Given the description of an element on the screen output the (x, y) to click on. 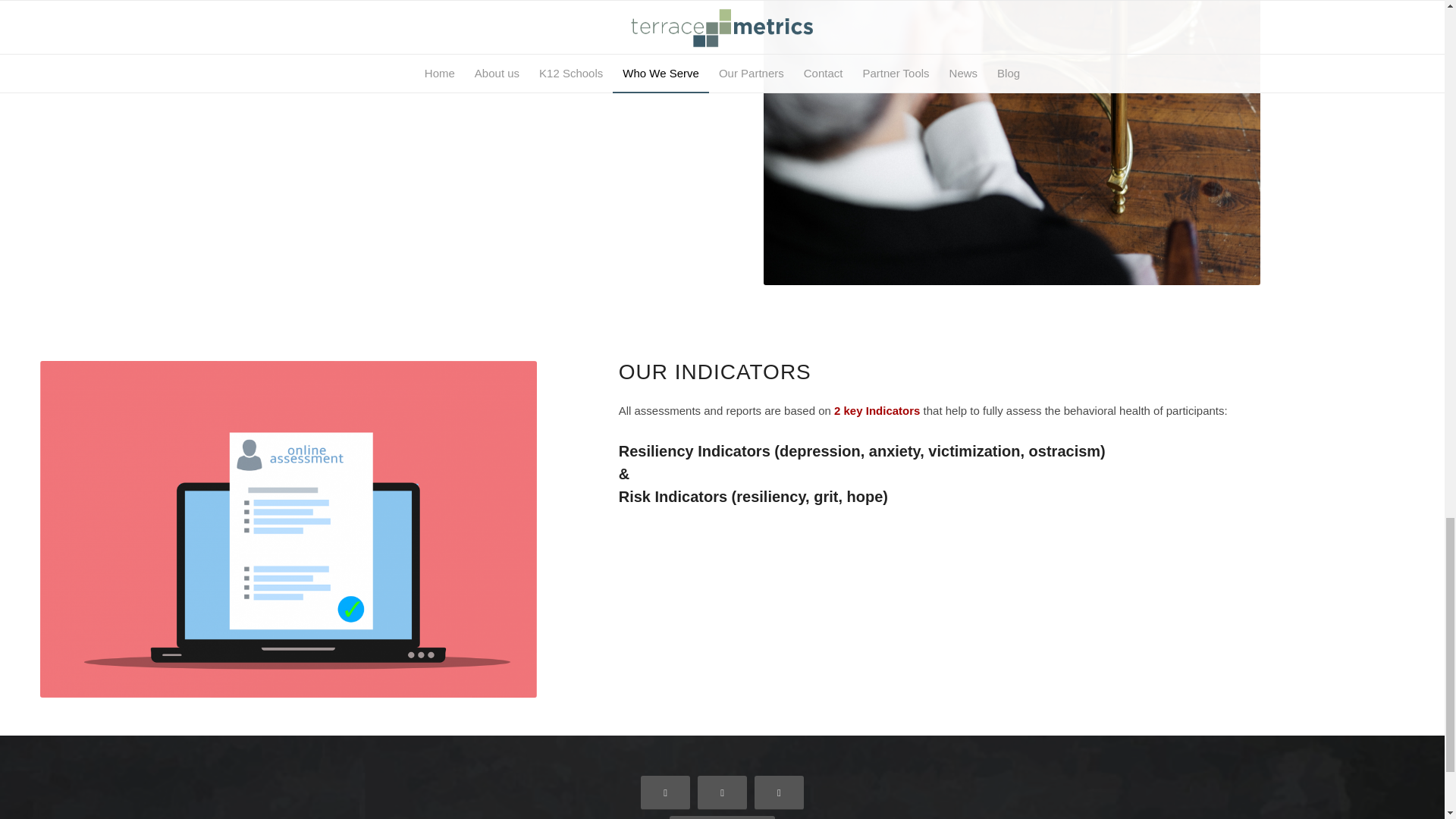
Contact Us (721, 817)
